Given the description of an element on the screen output the (x, y) to click on. 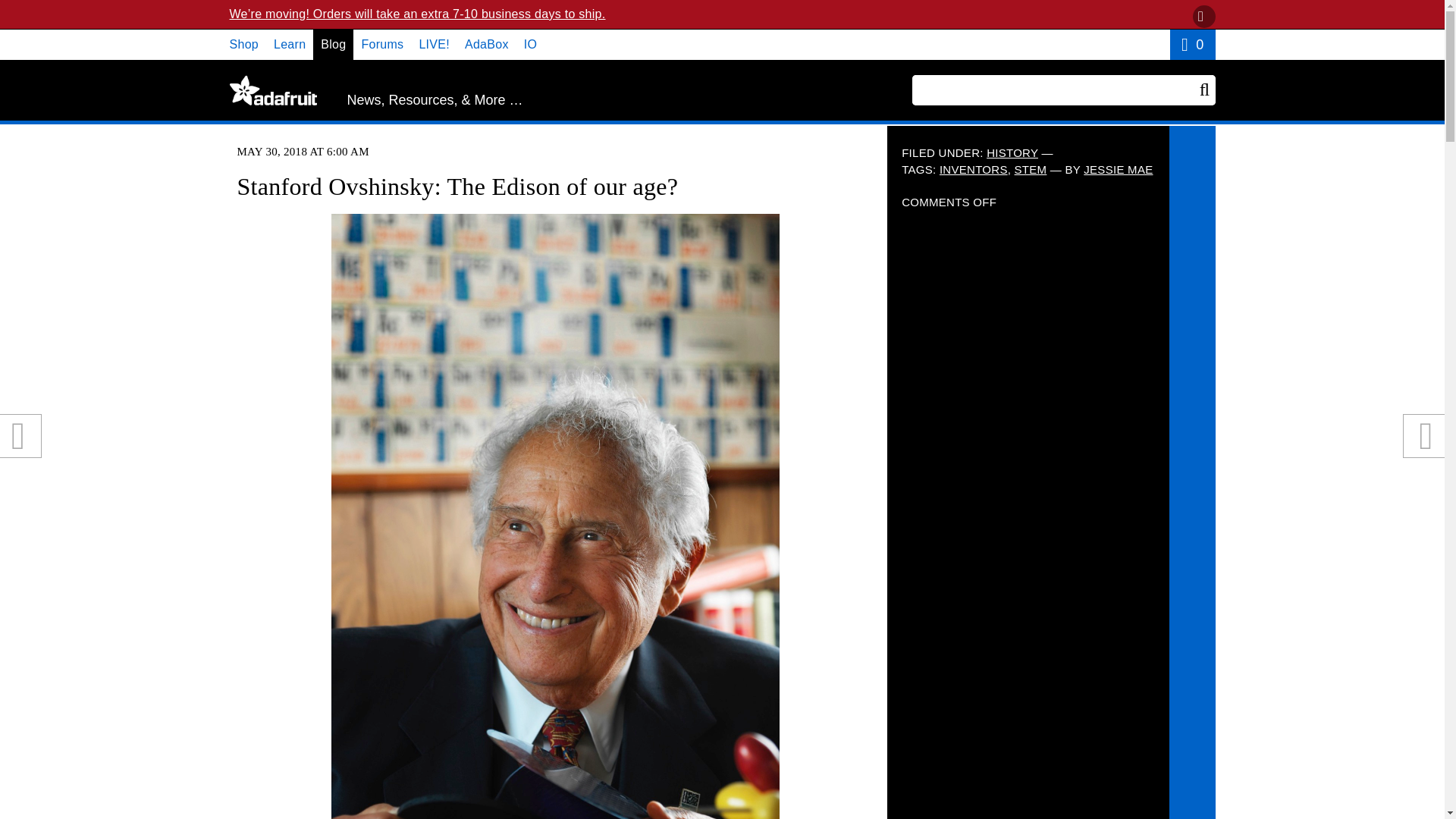
Adafruit (271, 90)
